Given the description of an element on the screen output the (x, y) to click on. 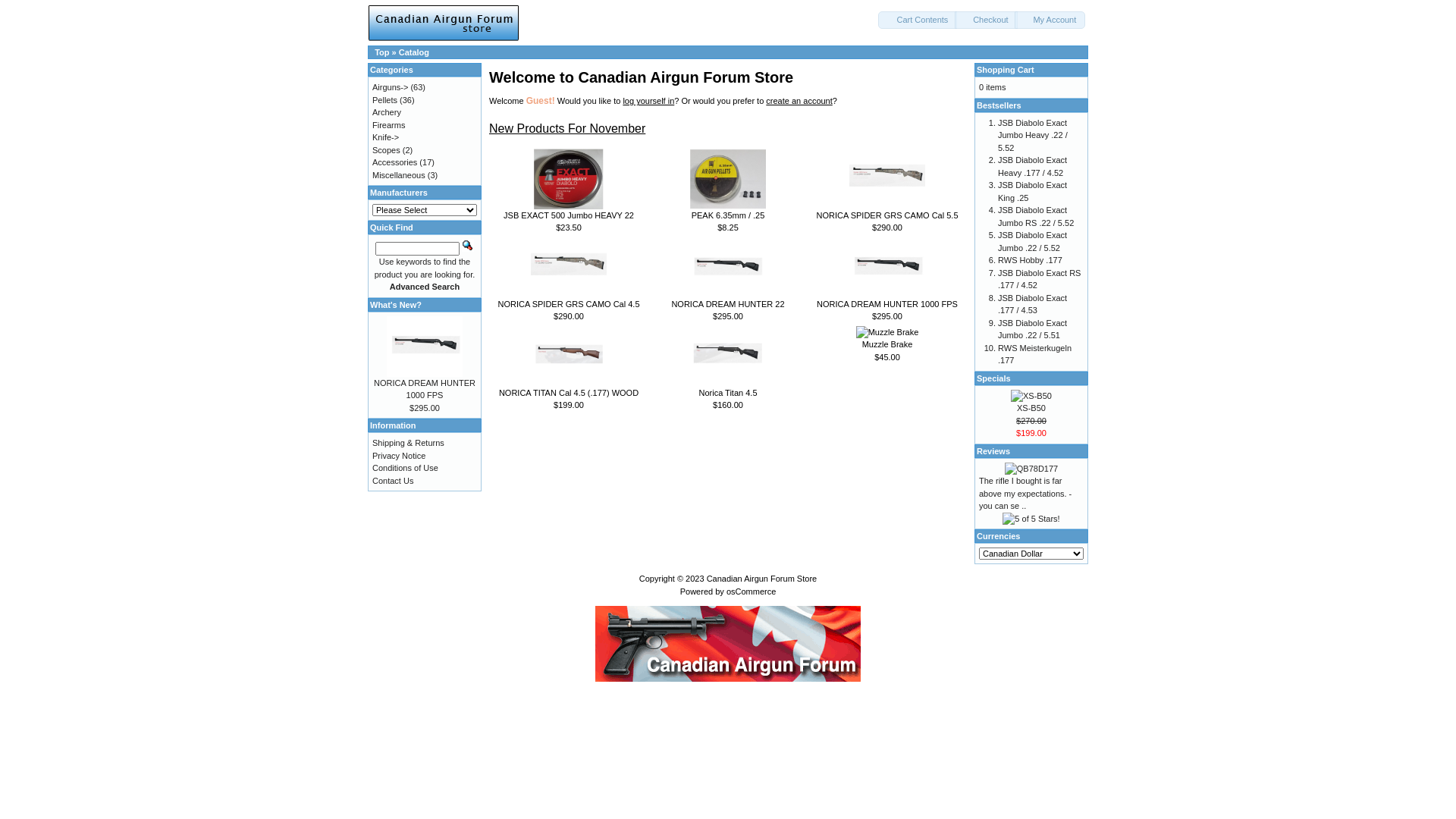
Muzzle Brake Element type: hover (887, 332)
QB78D177 Element type: hover (1030, 468)
NORICA DREAM HUNTER  22 Element type: hover (727, 267)
Scopes Element type: text (386, 149)
Canadian Airgun Forum Element type: hover (727, 643)
XS-B50 Element type: hover (1030, 395)
Pellets Element type: text (384, 99)
PEAK 6.35mm / .25 Element type: hover (727, 178)
NORICA DREAM HUNTER 1000 FPS Element type: hover (887, 267)
JSB Diabolo Exact Jumbo .22 / 5.52 Element type: text (1031, 241)
Canadian Airgun Forum Store Element type: text (761, 578)
Specials Element type: text (993, 377)
NORICA DREAM HUNTER 1000 FPS Element type: text (886, 303)
RWS Meisterkugeln .177 Element type: text (1034, 353)
JSB Diabolo Exact .177 / 4.53 Element type: text (1031, 303)
Firearms Element type: text (388, 123)
JSB Diabolo Exact Heavy .177 / 4.52 Element type: text (1031, 166)
Canadian Airgun Forum Store Element type: hover (443, 22)
Advanced Search Element type: text (424, 286)
NORICA TITAN Cal 4.5 (.177) WOOD Element type: hover (568, 356)
NORICA DREAM HUNTER 1000 FPS Element type: text (424, 388)
NORICA SPIDER GRS CAMO Cal 4.5 Element type: text (568, 303)
Shipping & Returns Element type: text (408, 442)
Reviews Element type: text (993, 450)
 Quick Find  Element type: hover (467, 244)
log yourself in Element type: text (648, 100)
5 of 5 Stars! Element type: hover (1030, 518)
Muzzle Brake Element type: text (887, 343)
JSB Diabolo Exact Jumbo .22 / 5.51 Element type: text (1031, 329)
JSB Diabolo Exact Jumbo Heavy .22 / 5.52 Element type: text (1032, 135)
Privacy Notice Element type: text (398, 454)
RWS Hobby .177 Element type: text (1029, 259)
What's New? Element type: text (395, 304)
Contact Us Element type: text (392, 480)
NORICA SPIDER GRS CAMO Cal 4.5 Element type: hover (568, 267)
JSB Diabolo Exact King .25 Element type: text (1031, 191)
Knife-> Element type: text (385, 136)
Conditions of Use Element type: text (405, 467)
JSB Diabolo Exact Jumbo RS .22 / 5.52 Element type: text (1035, 216)
XS-B50 Element type: text (1030, 407)
Checkout Element type: text (985, 19)
PEAK 6.35mm / .25 Element type: text (728, 214)
osCommerce Element type: text (750, 591)
Miscellaneous Element type: text (398, 173)
create an account Element type: text (798, 100)
JSB Diabolo Exact RS .177 / 4.52 Element type: text (1038, 279)
NORICA DREAM HUNTER 1000 FPS Element type: hover (424, 345)
Shopping Cart Element type: text (1005, 69)
NORICA DREAM HUNTER 22 Element type: text (727, 303)
Norica Titan 4.5 Element type: text (727, 392)
Accessories Element type: text (394, 161)
Airguns-> Element type: text (389, 86)
JSB EXACT 500 Jumbo HEAVY 22 Element type: hover (568, 178)
Cart Contents Element type: text (917, 19)
Norica Titan 4.5 Element type: hover (727, 356)
NORICA SPIDER GRS CAMO Cal 5.5 Element type: hover (887, 178)
NORICA SPIDER GRS CAMO Cal 5.5 Element type: text (886, 214)
Archery Element type: text (386, 111)
Catalog Element type: text (413, 51)
Top Element type: text (381, 51)
NORICA TITAN Cal 4.5 (.177) WOOD Element type: text (568, 392)
My Account Element type: text (1049, 19)
JSB EXACT 500 Jumbo HEAVY 22 Element type: text (568, 214)
